Given the description of an element on the screen output the (x, y) to click on. 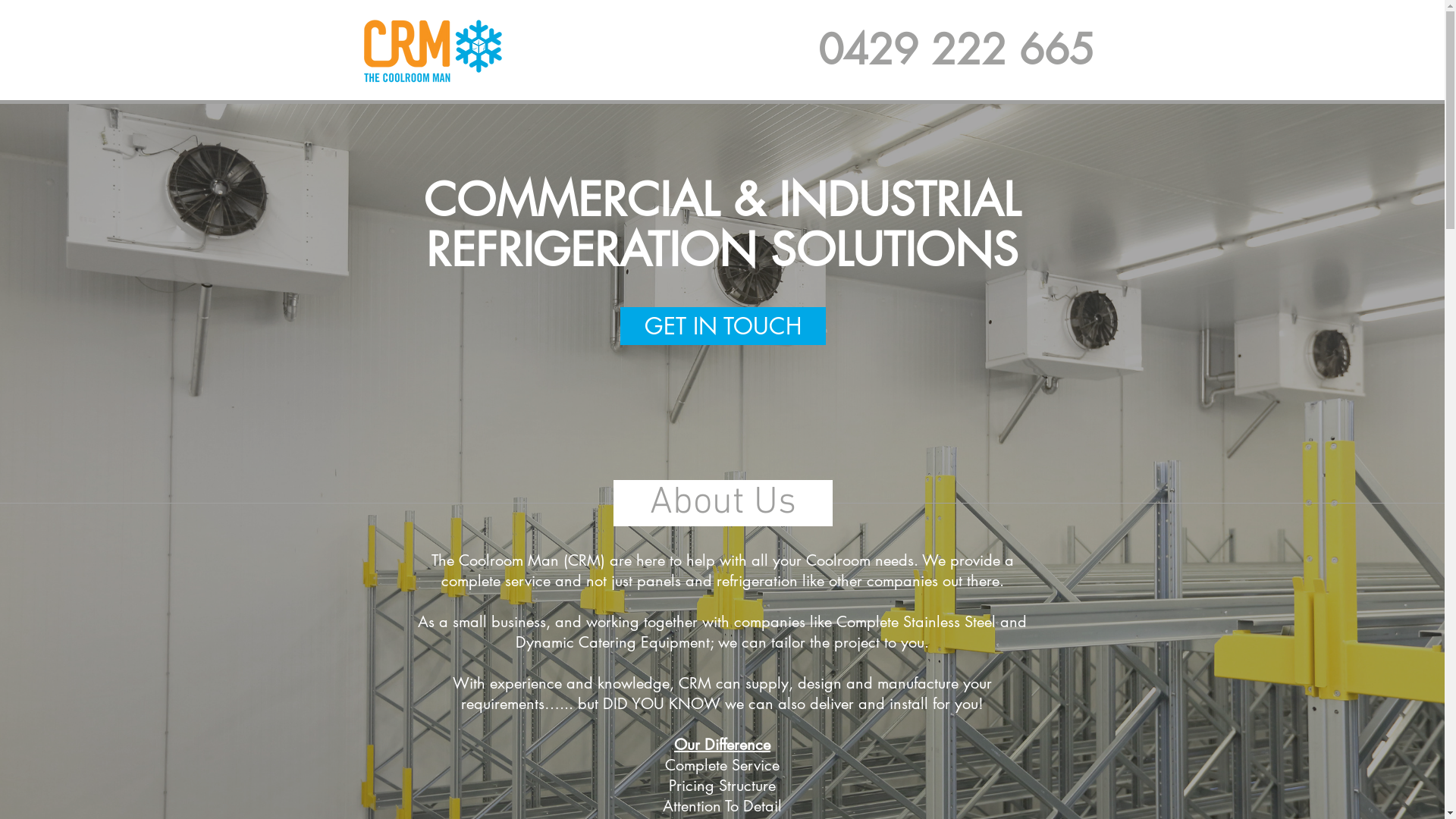
GET IN TOUCH Element type: text (722, 326)
